Given the description of an element on the screen output the (x, y) to click on. 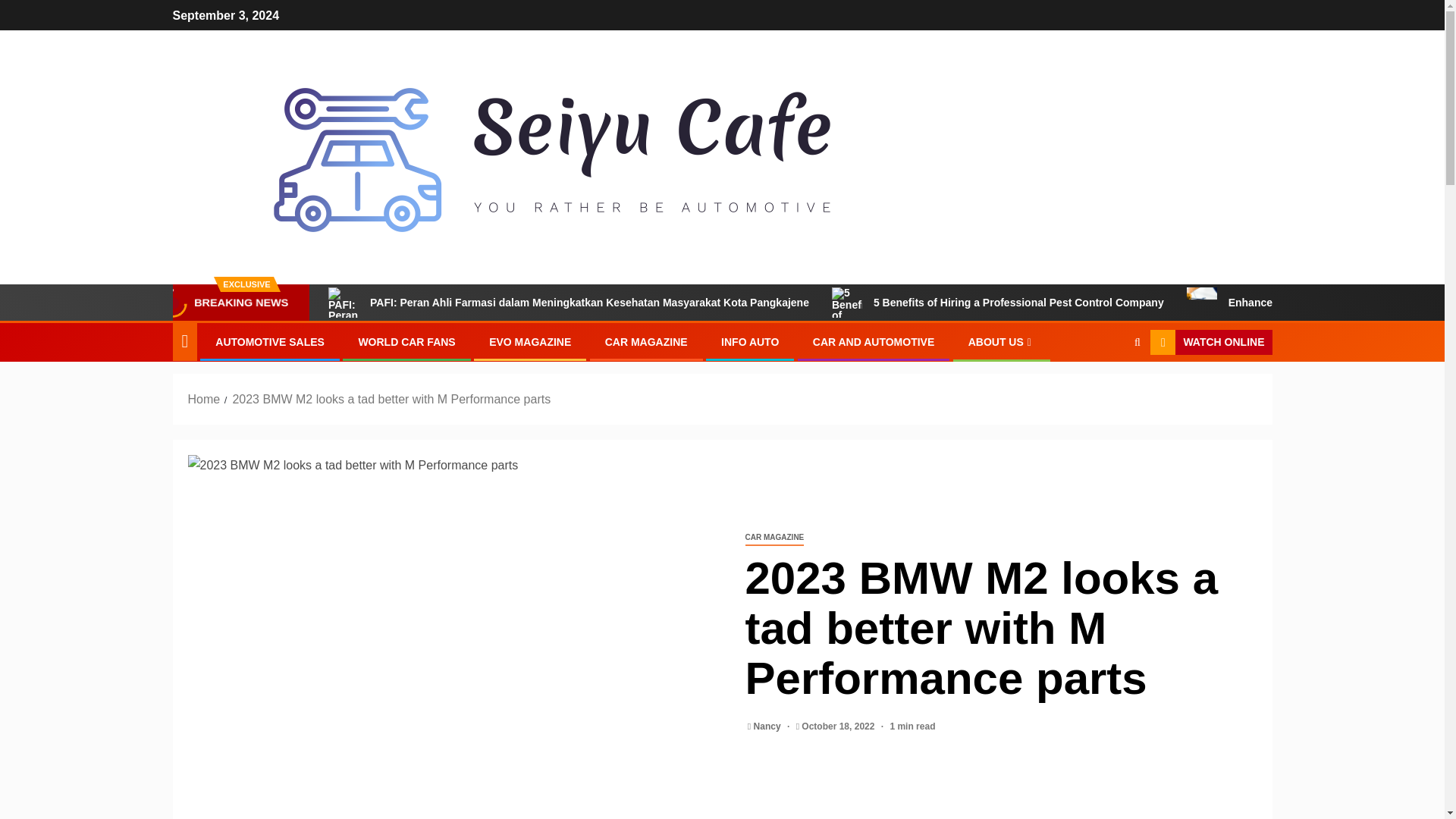
Search (1107, 388)
AUTOMOTIVE SALES (269, 341)
Nancy (768, 726)
WATCH ONLINE (1210, 342)
Enhance Your Ride: Essential Car Upgrades Explained (1201, 302)
INFO AUTO (749, 341)
EVO MAGAZINE (529, 341)
WORLD CAR FANS (406, 341)
CAR AND AUTOMOTIVE (873, 341)
